Given the description of an element on the screen output the (x, y) to click on. 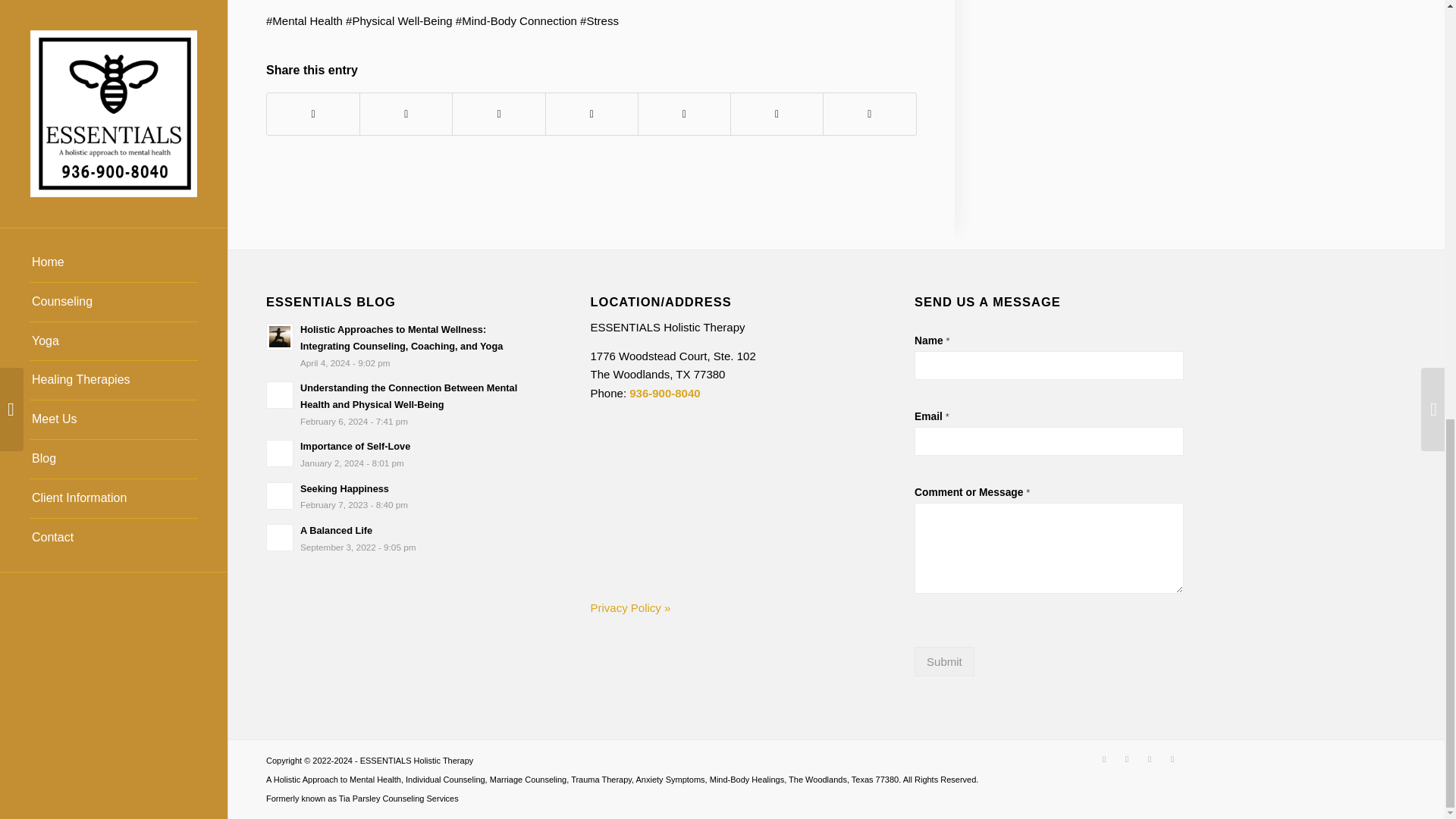
Read: Importance of Self-Love (280, 452)
